Given the description of an element on the screen output the (x, y) to click on. 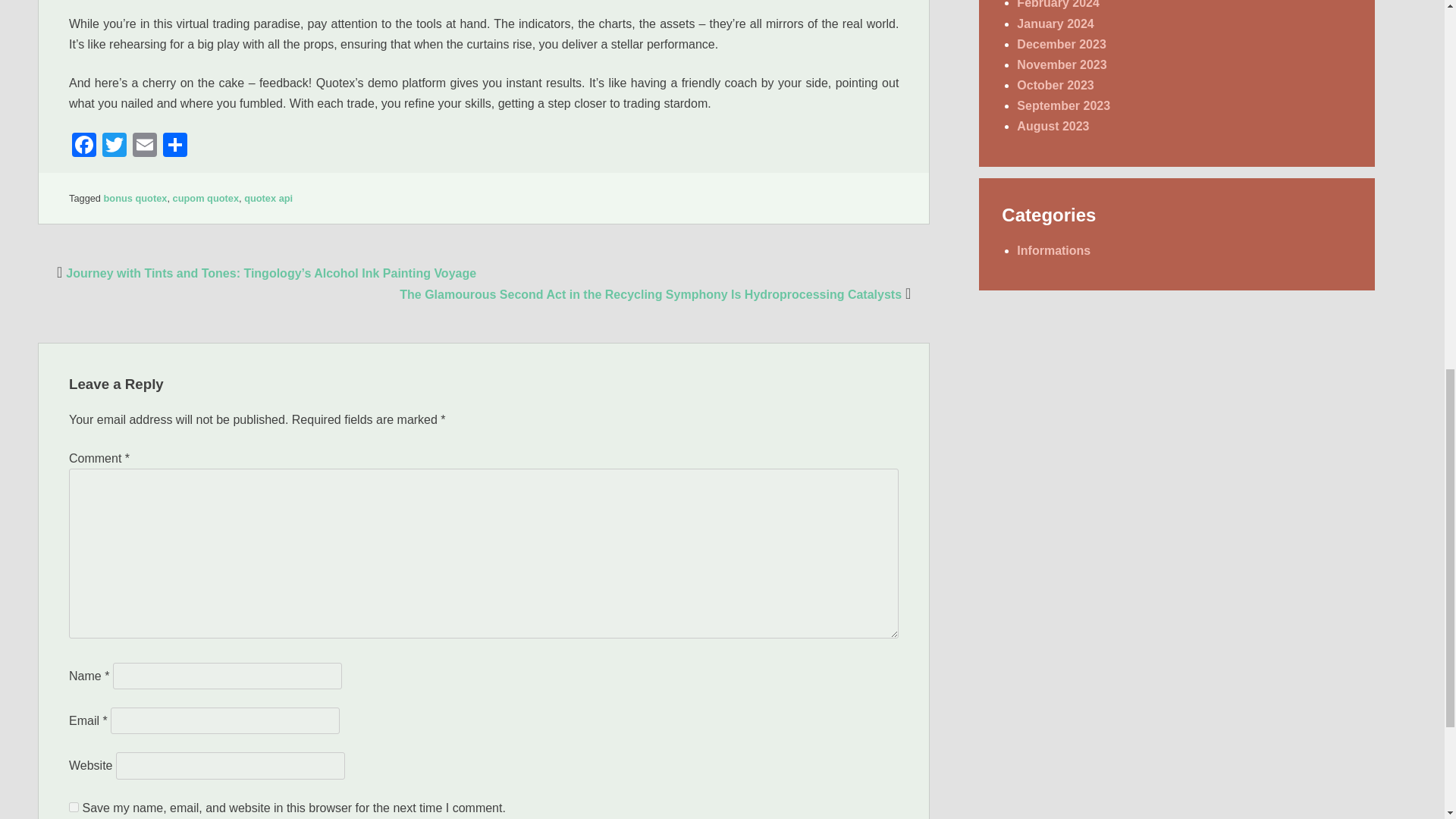
Informations (1053, 250)
quotex api (268, 197)
Twitter (114, 145)
December 2023 (1060, 43)
bonus quotex (135, 197)
Facebook (83, 145)
February 2024 (1057, 4)
cupom quotex (205, 197)
Email (144, 145)
October 2023 (1054, 84)
